Given the description of an element on the screen output the (x, y) to click on. 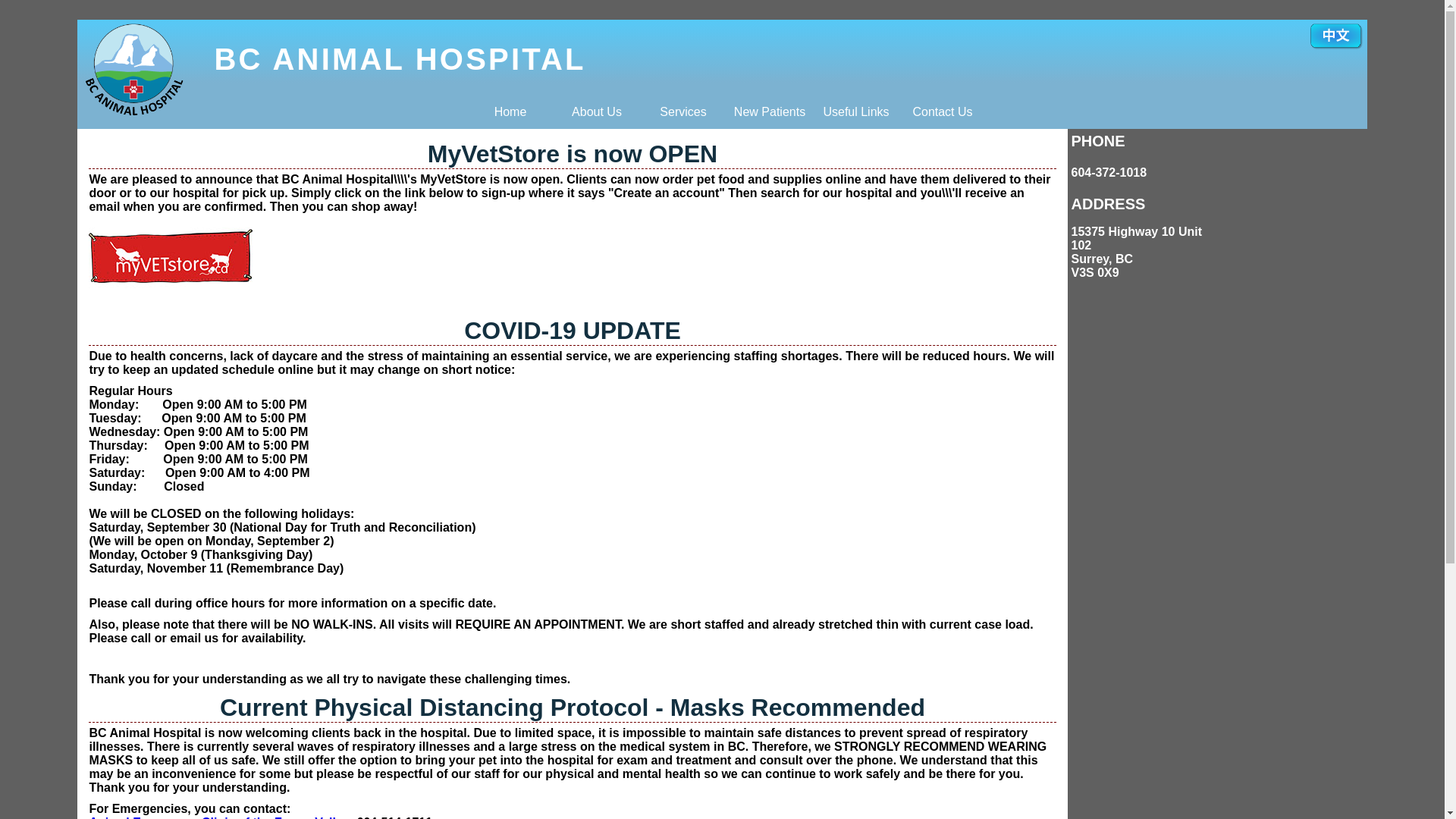
Services Element type: text (683, 112)
Useful Links Element type: text (855, 112)
Contact Us Element type: text (942, 112)
New Patients Element type: text (769, 112)
About Us Element type: text (596, 112)
Home Element type: text (510, 112)
